Given the description of an element on the screen output the (x, y) to click on. 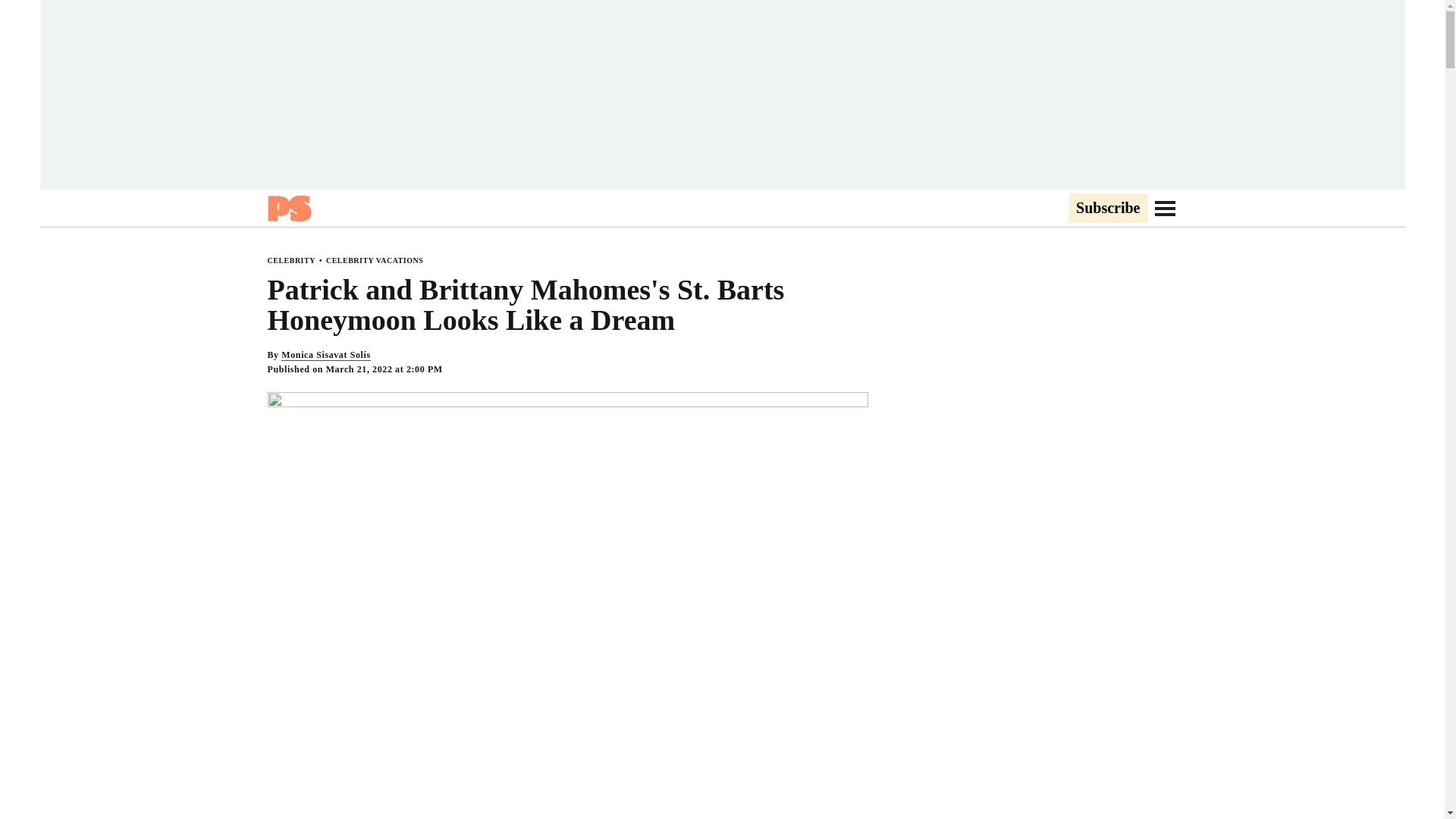
Go to Navigation (1164, 207)
Go to Navigation (1164, 207)
CELEBRITY (290, 260)
CELEBRITY VACATIONS (374, 260)
Popsugar (288, 208)
Subscribe (1107, 208)
